Given the description of an element on the screen output the (x, y) to click on. 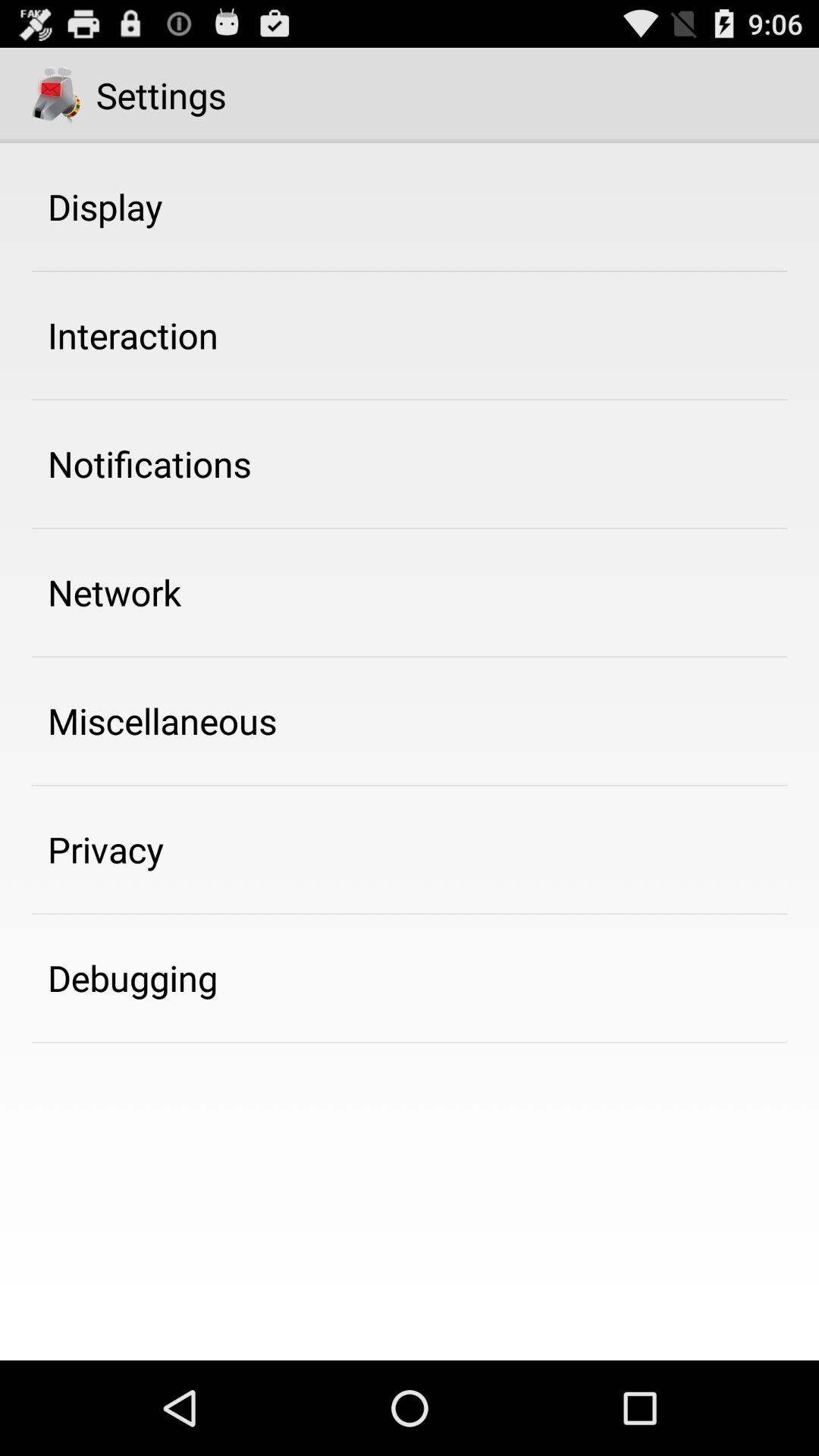
open the app below miscellaneous icon (105, 849)
